Given the description of an element on the screen output the (x, y) to click on. 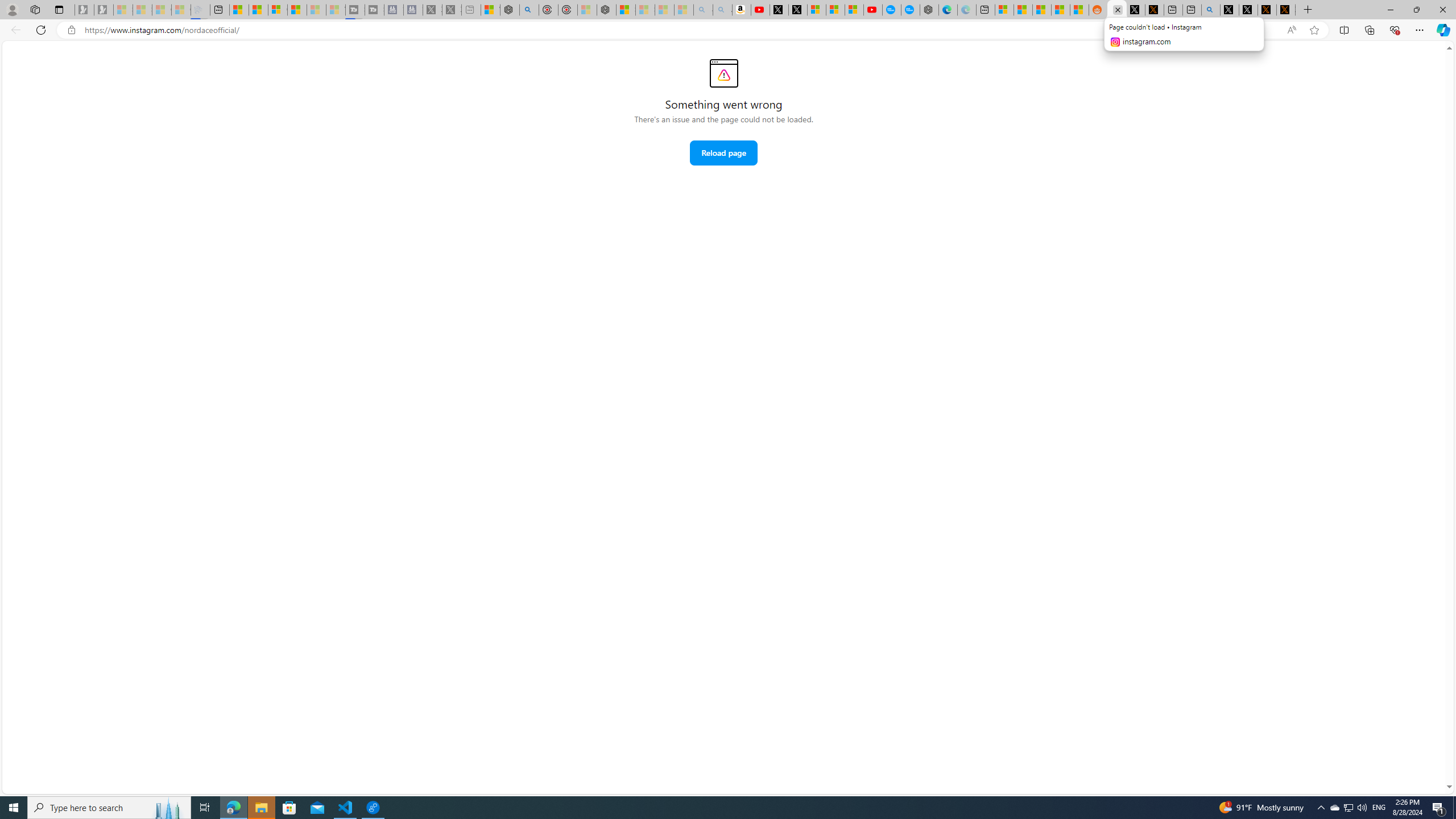
Reload page (723, 152)
Shanghai, China hourly forecast | Microsoft Weather (1041, 9)
Amazon Echo Dot PNG - Search Images - Sleeping (721, 9)
Error (723, 72)
GitHub (@github) / X (1248, 9)
